Given the description of an element on the screen output the (x, y) to click on. 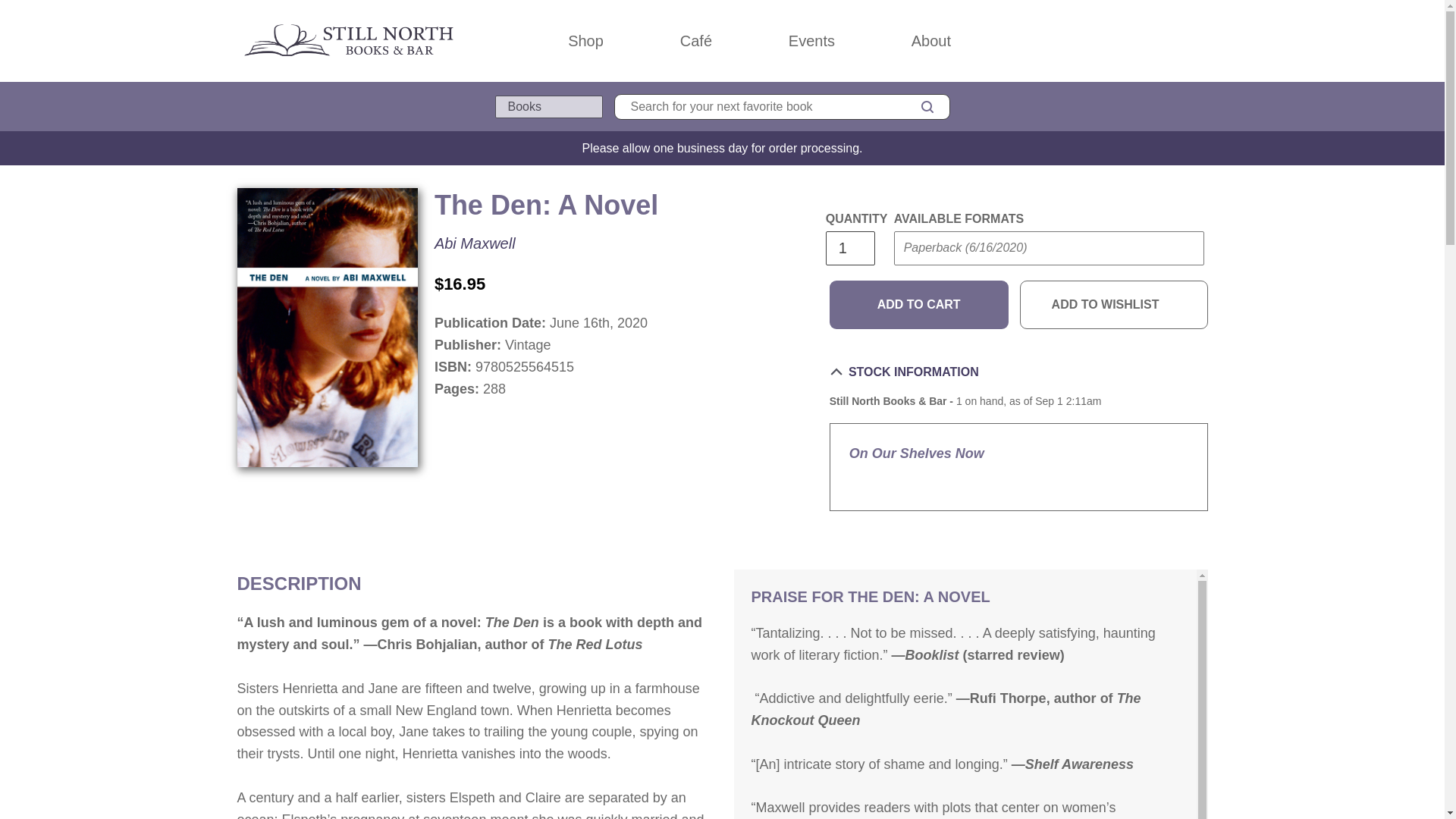
Wishlists (1168, 40)
Submit (922, 278)
Add to cart (919, 304)
ADD TO WISHLIST (1114, 304)
Log in (1134, 40)
Cart (1201, 40)
Add to cart (919, 304)
Abi Maxwell (474, 243)
1 (850, 247)
